Given the description of an element on the screen output the (x, y) to click on. 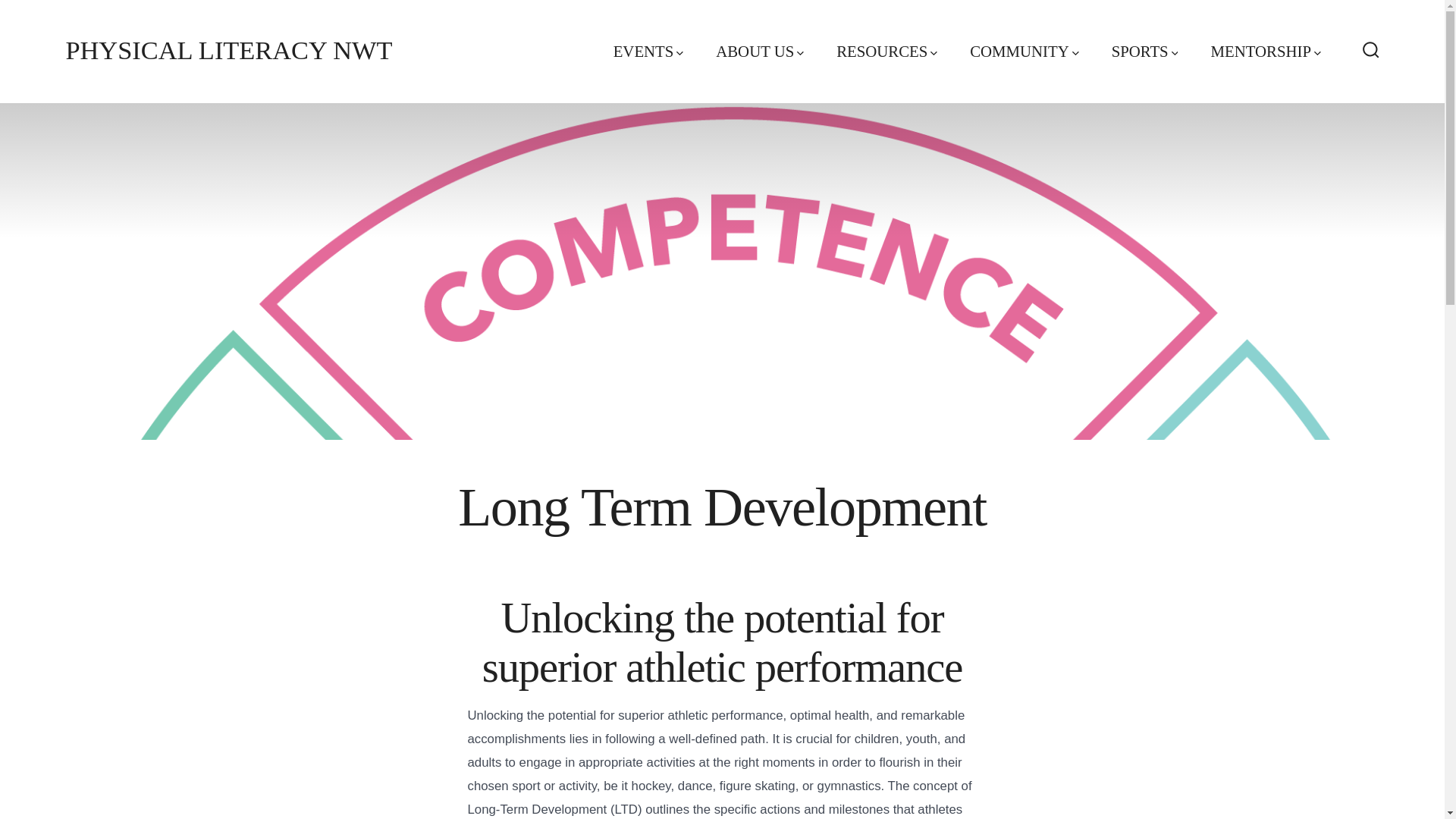
ABOUT US (759, 51)
RESOURCES (886, 51)
EVENTS (648, 51)
Search Toggle (1371, 50)
PHYSICAL LITERACY NWT (228, 51)
